Given the description of an element on the screen output the (x, y) to click on. 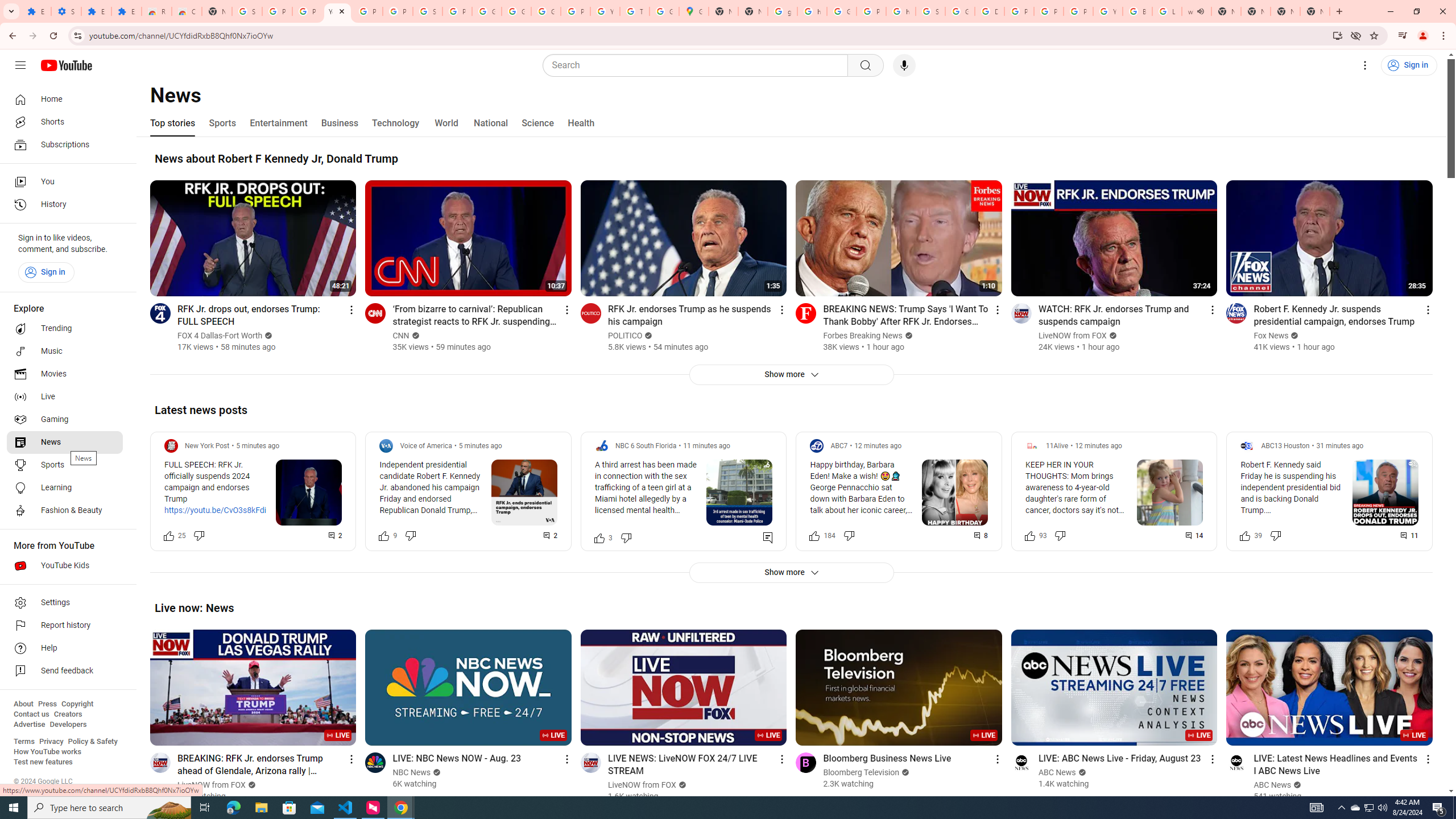
New Tab (216, 11)
NBC News (411, 772)
New Tab (1284, 11)
Like this post along with 9 other people (383, 534)
Contact us (31, 714)
CNN (401, 335)
Business (339, 122)
Send feedback (64, 671)
https://youtu.be/CvO3s8kFdiU (218, 510)
